Given the description of an element on the screen output the (x, y) to click on. 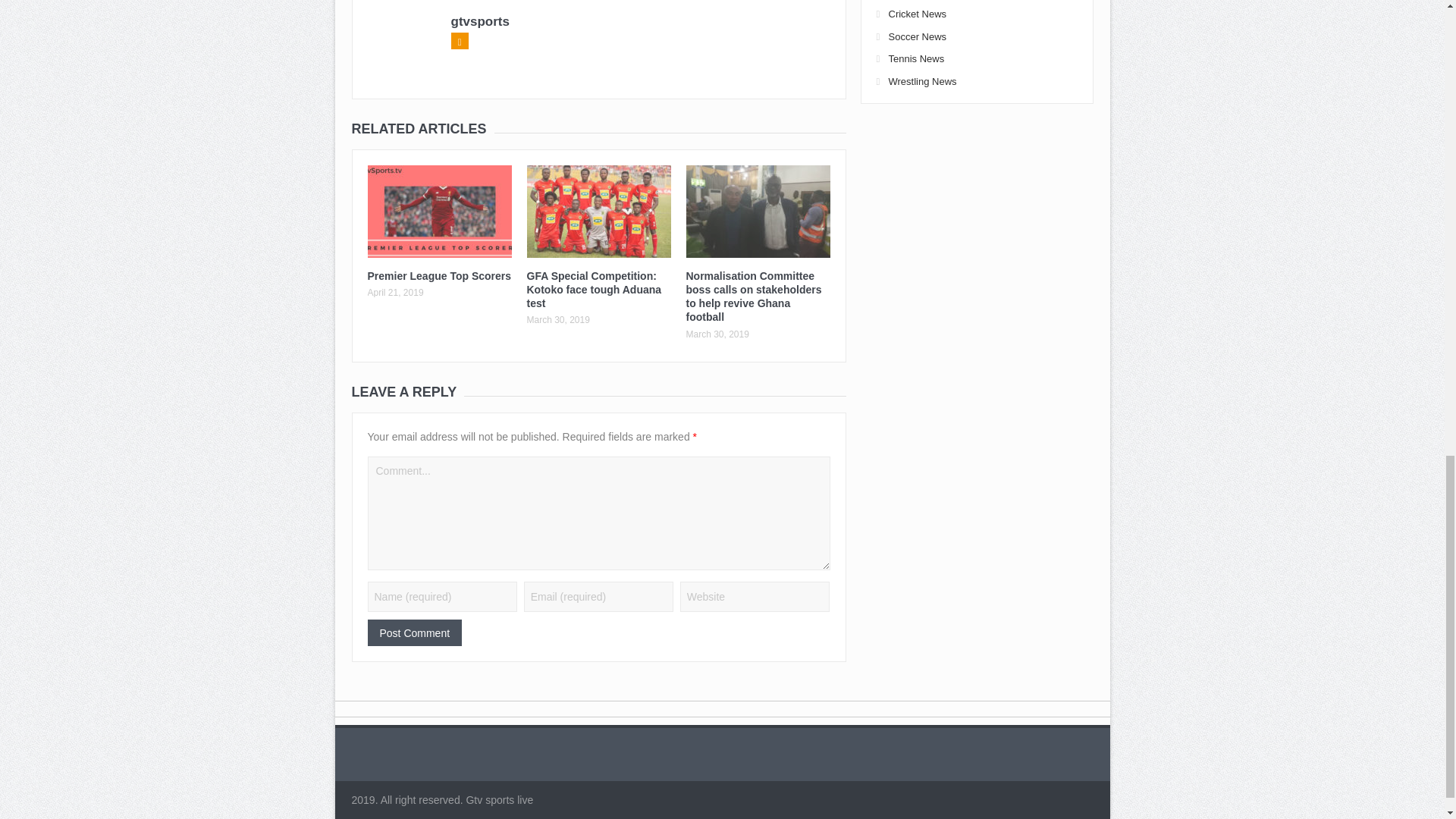
Post Comment (413, 632)
